Given the description of an element on the screen output the (x, y) to click on. 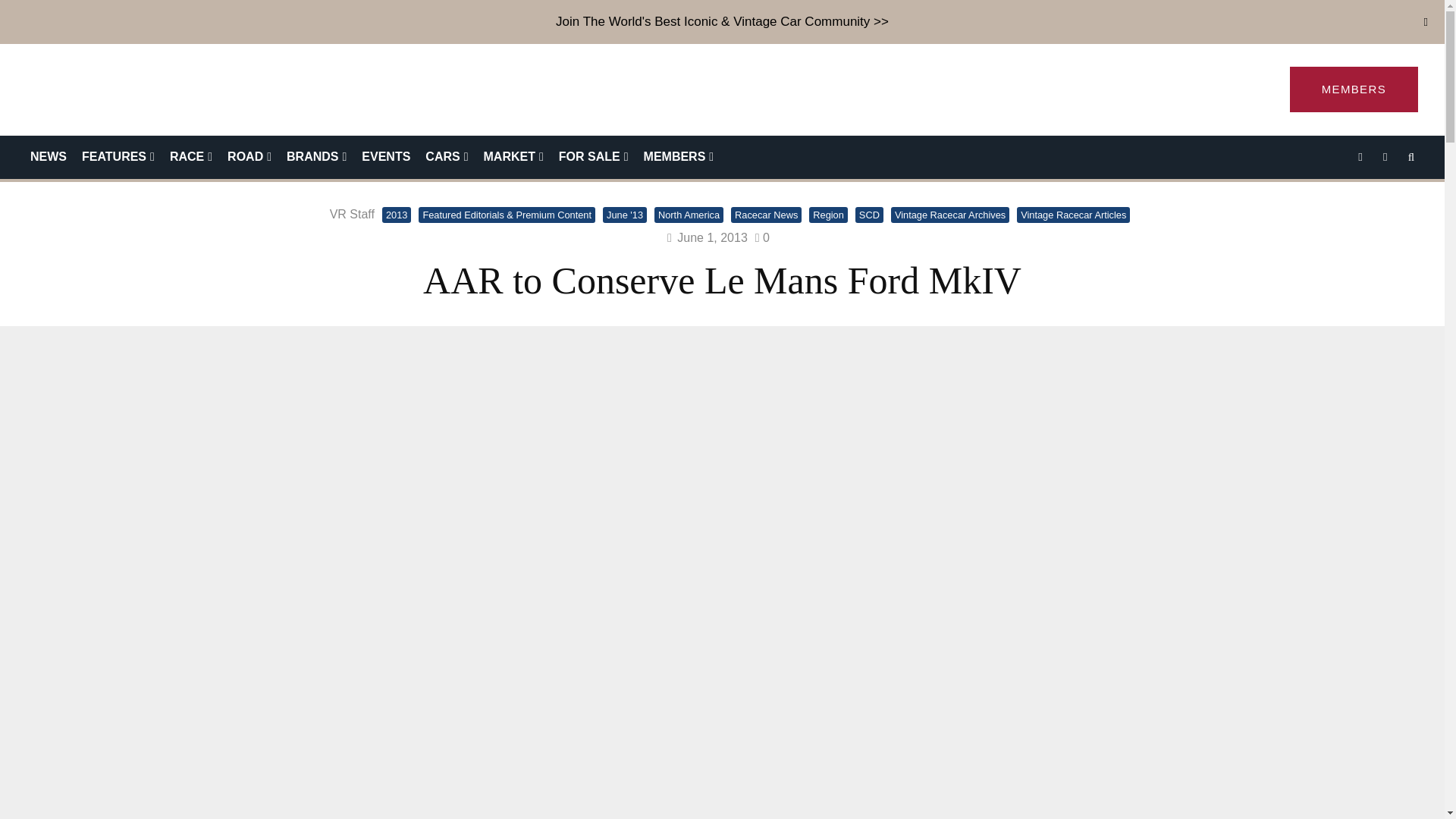
RACE (190, 157)
MEMBERS (1354, 89)
FEATURES (117, 157)
NEWS (48, 157)
